Given the description of an element on the screen output the (x, y) to click on. 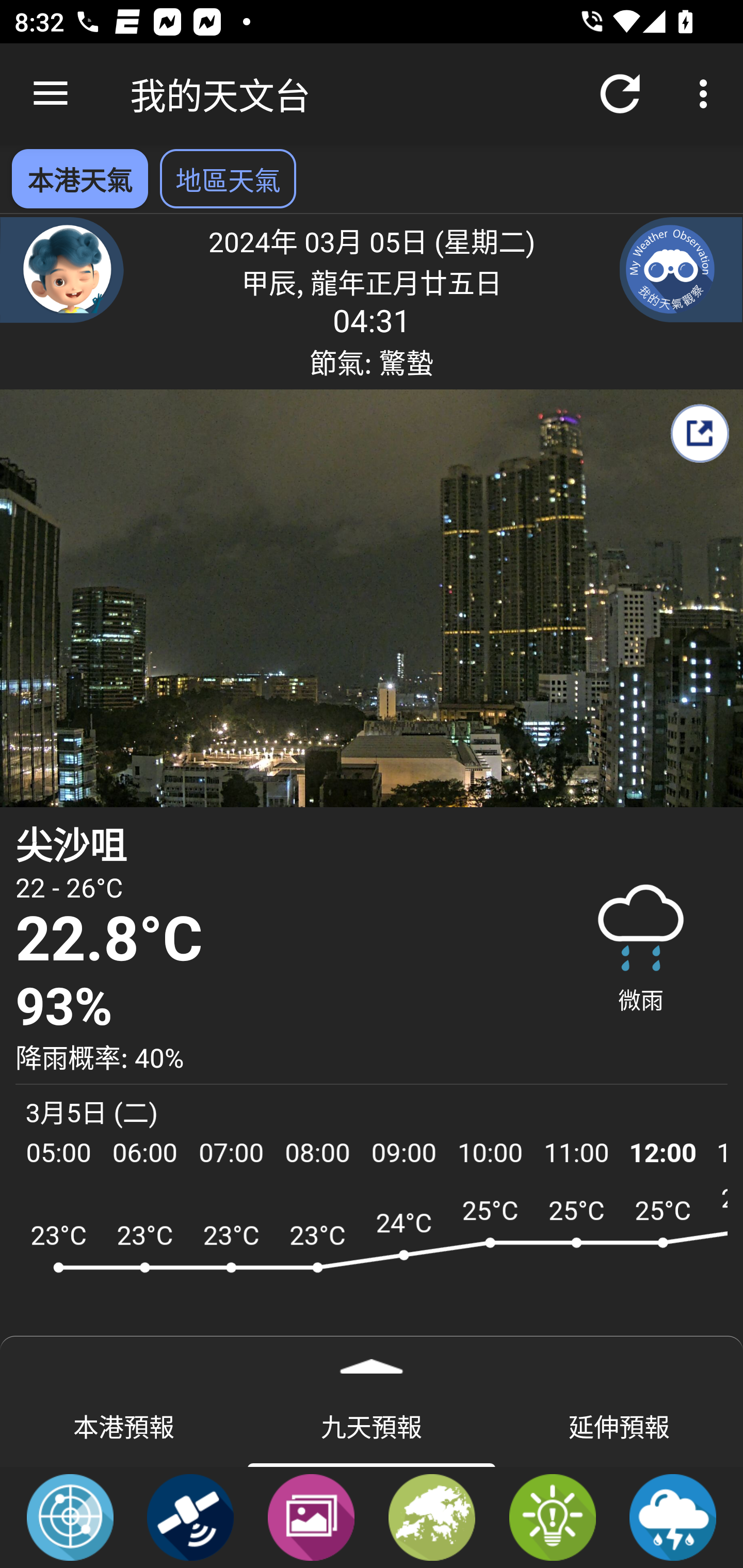
向上瀏覽 (50, 93)
重新整理 (619, 93)
更多選項 (706, 93)
本港天氣 已選擇 本港天氣 (79, 178)
地區天氣 選擇 地區天氣 (227, 178)
聊天機械人 (62, 269)
我的天氣觀察 (680, 269)
分享我的天氣報告 (699, 433)
22.8°C 氣溫22.8攝氏度 (276, 939)
93% 相對濕度百分之93 (276, 1007)
九天自動天氣預報 圖片
輕按進入內頁，即可了解詳細資料。 ARWF (371, 1275)
展開 (371, 1358)
本港預報 (123, 1424)
延伸預報 (619, 1424)
雷達圖像 (69, 1516)
衛星圖像 (190, 1516)
天氣照片 (310, 1516)
分區天氣 (431, 1516)
天氣提示 (551, 1516)
定點降雨及閃電預報 (672, 1516)
